Given the description of an element on the screen output the (x, y) to click on. 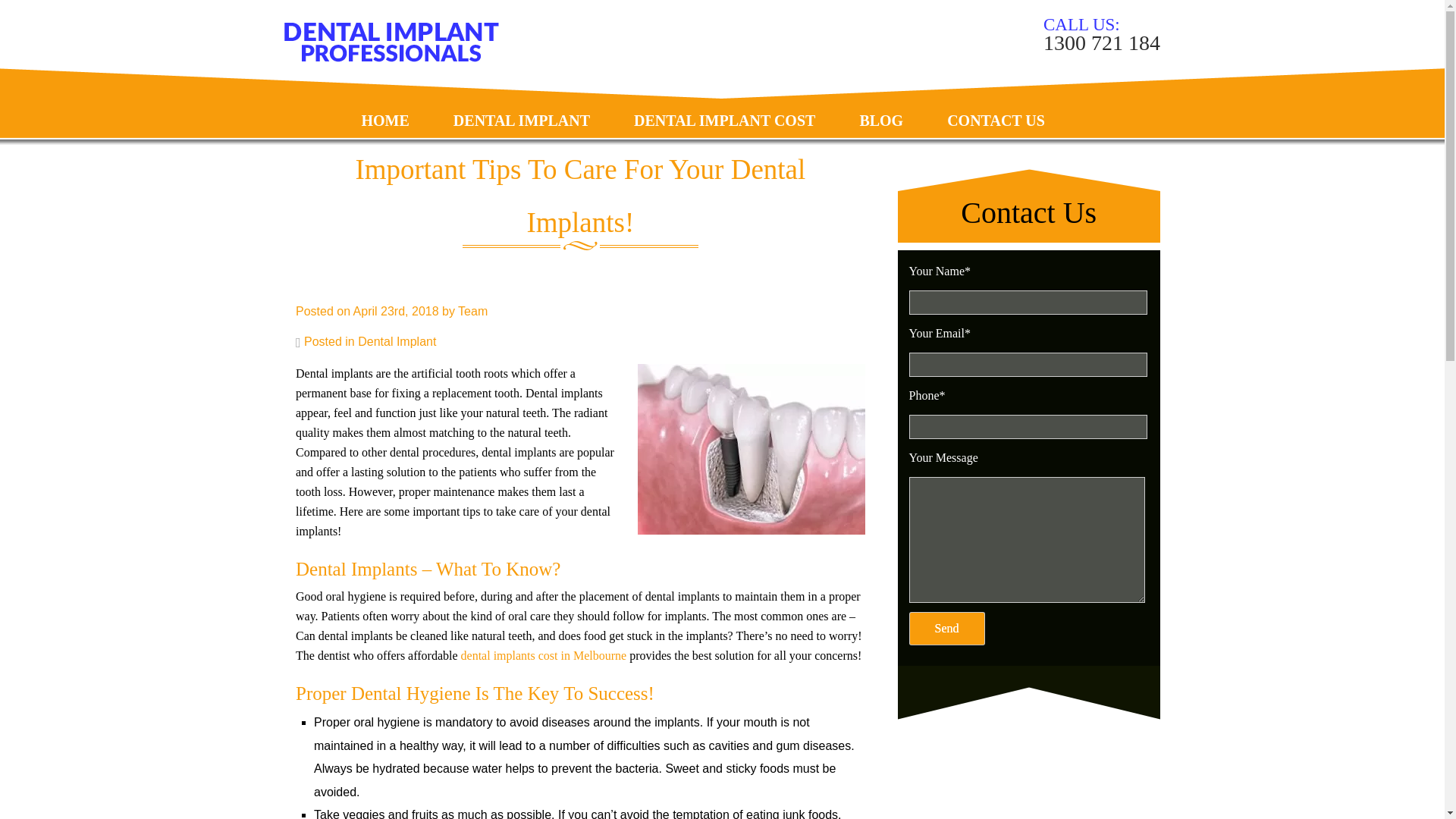
Send (946, 628)
Blog (880, 105)
Dental Implant Professionals (391, 42)
More (384, 190)
Dental Implant (520, 105)
Dental Implant Cost (724, 105)
CONTACT US (995, 105)
Home (384, 105)
HOME (384, 105)
Dental Implant Professionals (391, 57)
